Given the description of an element on the screen output the (x, y) to click on. 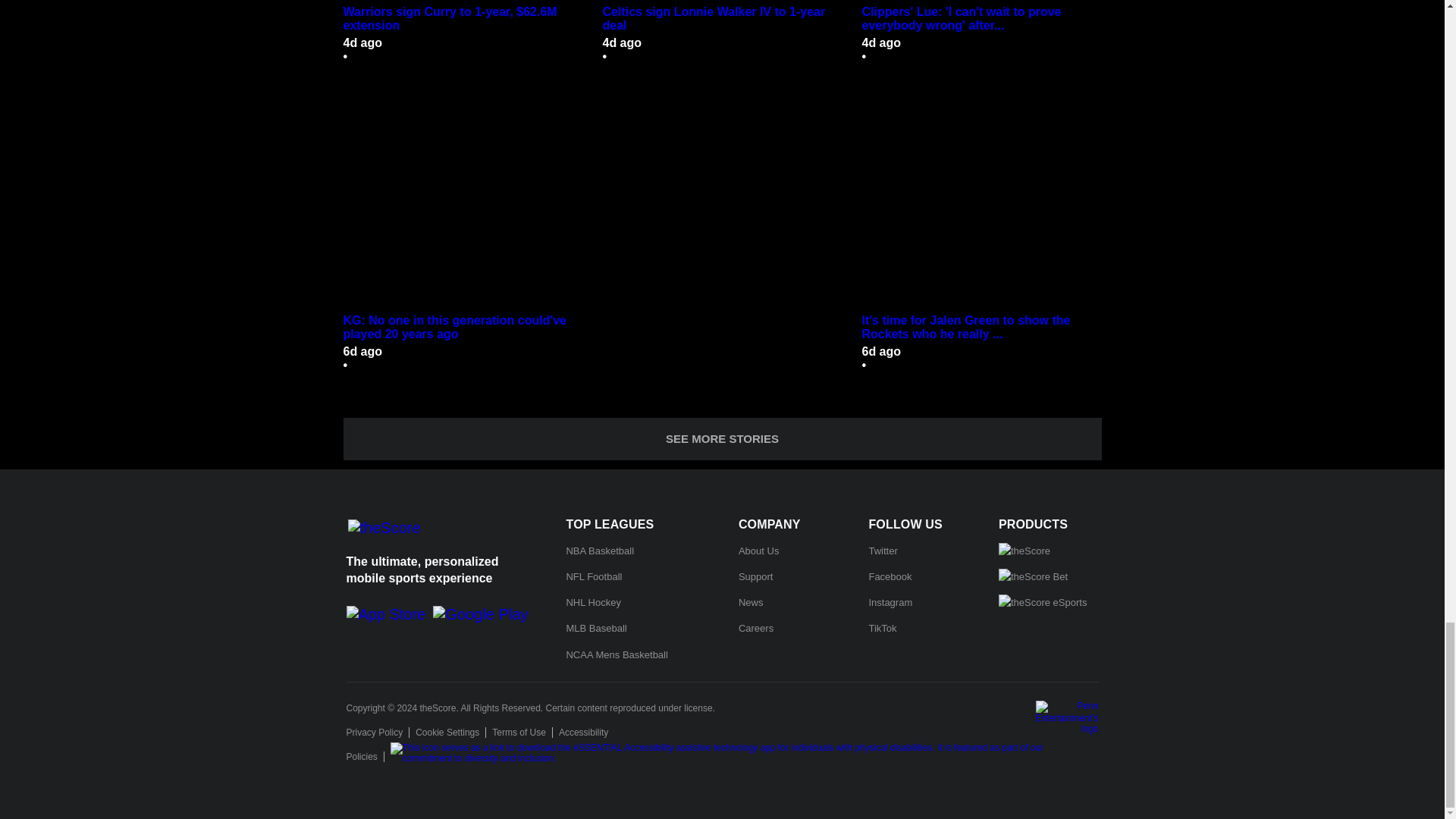
KG: No one in this generation could've played 20 years ago (462, 199)
Celtics sign Lonnie Walker IV to 1-year deal (721, 2)
2024-08-27T13:29:06.000Z (881, 350)
SEE MORE STORIES (721, 438)
Celtics sign Lonnie Walker IV to 1-year deal (721, 18)
2024-08-29T16:28:53.000Z (361, 42)
KG: No one in this generation could've played 20 years ago (462, 327)
